Given the description of an element on the screen output the (x, y) to click on. 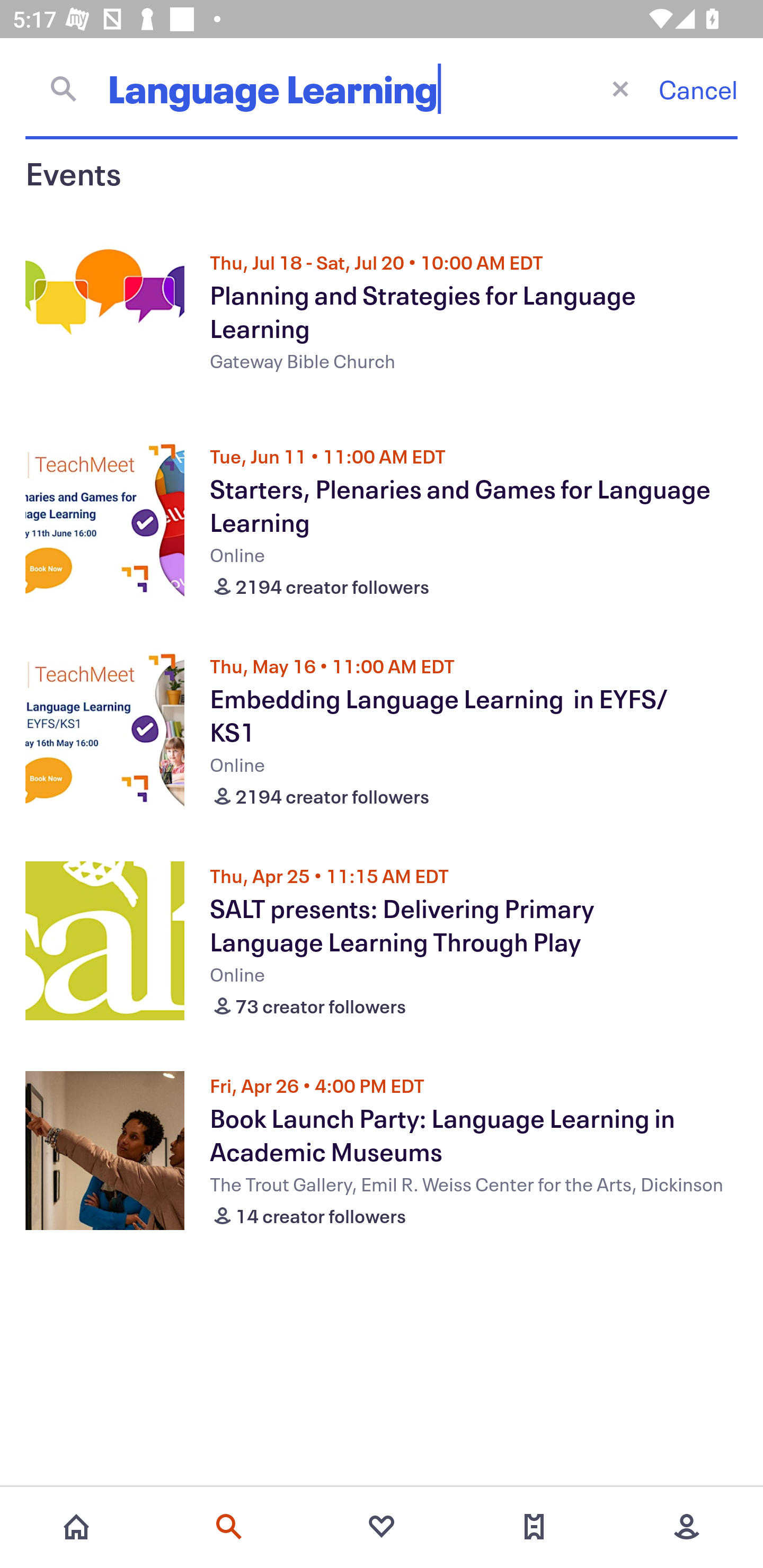
Language Learning Close current screen Cancel (381, 88)
Close current screen (620, 88)
Cancel (697, 89)
Home (76, 1526)
Search events (228, 1526)
Favorites (381, 1526)
Tickets (533, 1526)
More (686, 1526)
